Given the description of an element on the screen output the (x, y) to click on. 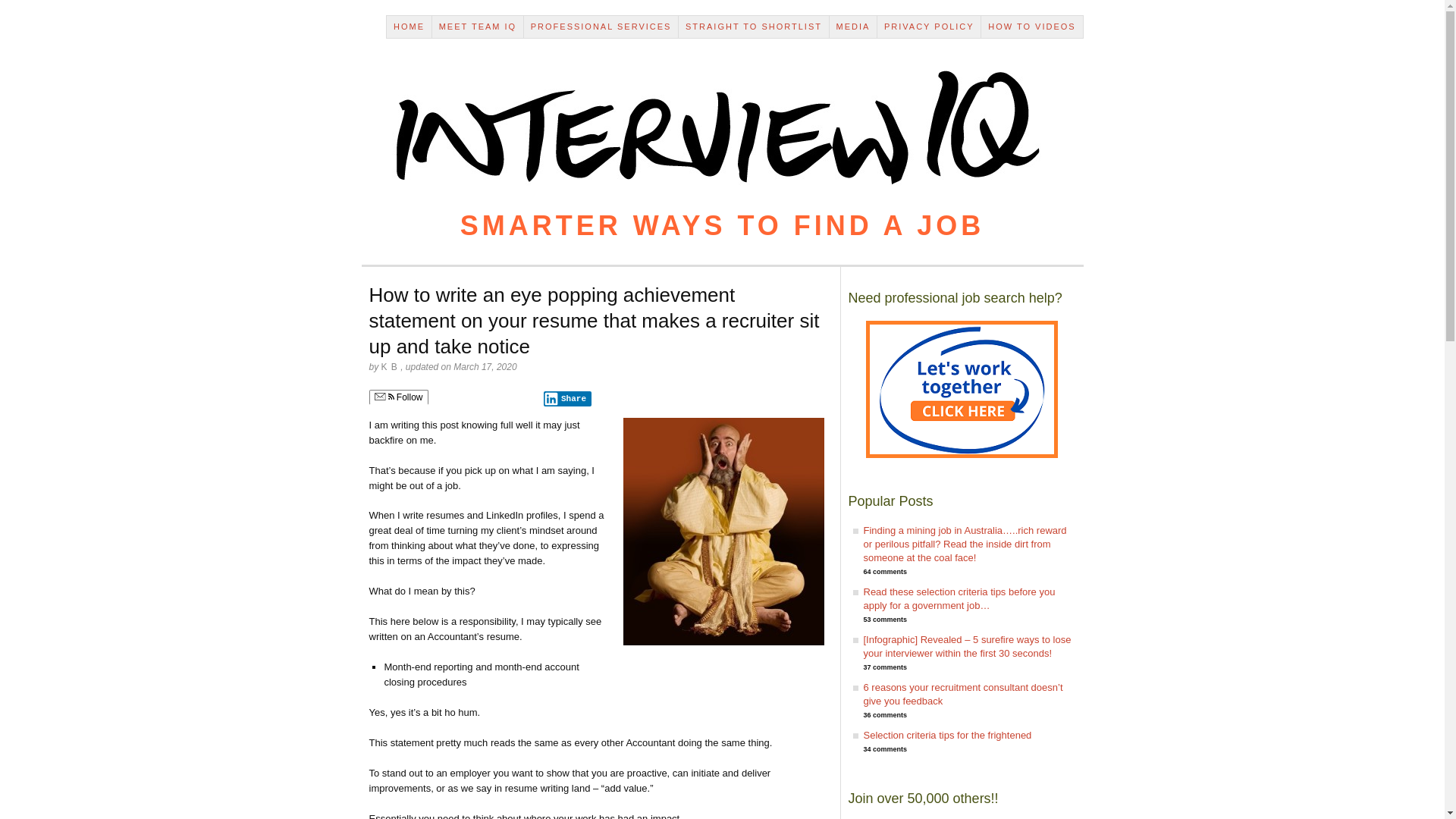
Follow Element type: text (397, 396)
PROFESSIONAL SERVICES Element type: text (601, 26)
PRIVACY POLICY Element type: text (929, 26)
MEET TEAM IQ Element type: text (478, 26)
Need professional job search help? Element type: hover (961, 389)
HOME Element type: text (409, 26)
HOW TO VIDEOS Element type: text (1031, 26)
Email, RSS Element type: hover (384, 397)
MEDIA Element type: text (853, 26)
STRAIGHT TO SHORTLIST Element type: text (753, 26)
Share Element type: text (566, 398)
Selection criteria tips for the frightened Element type: text (946, 735)
